Given the description of an element on the screen output the (x, y) to click on. 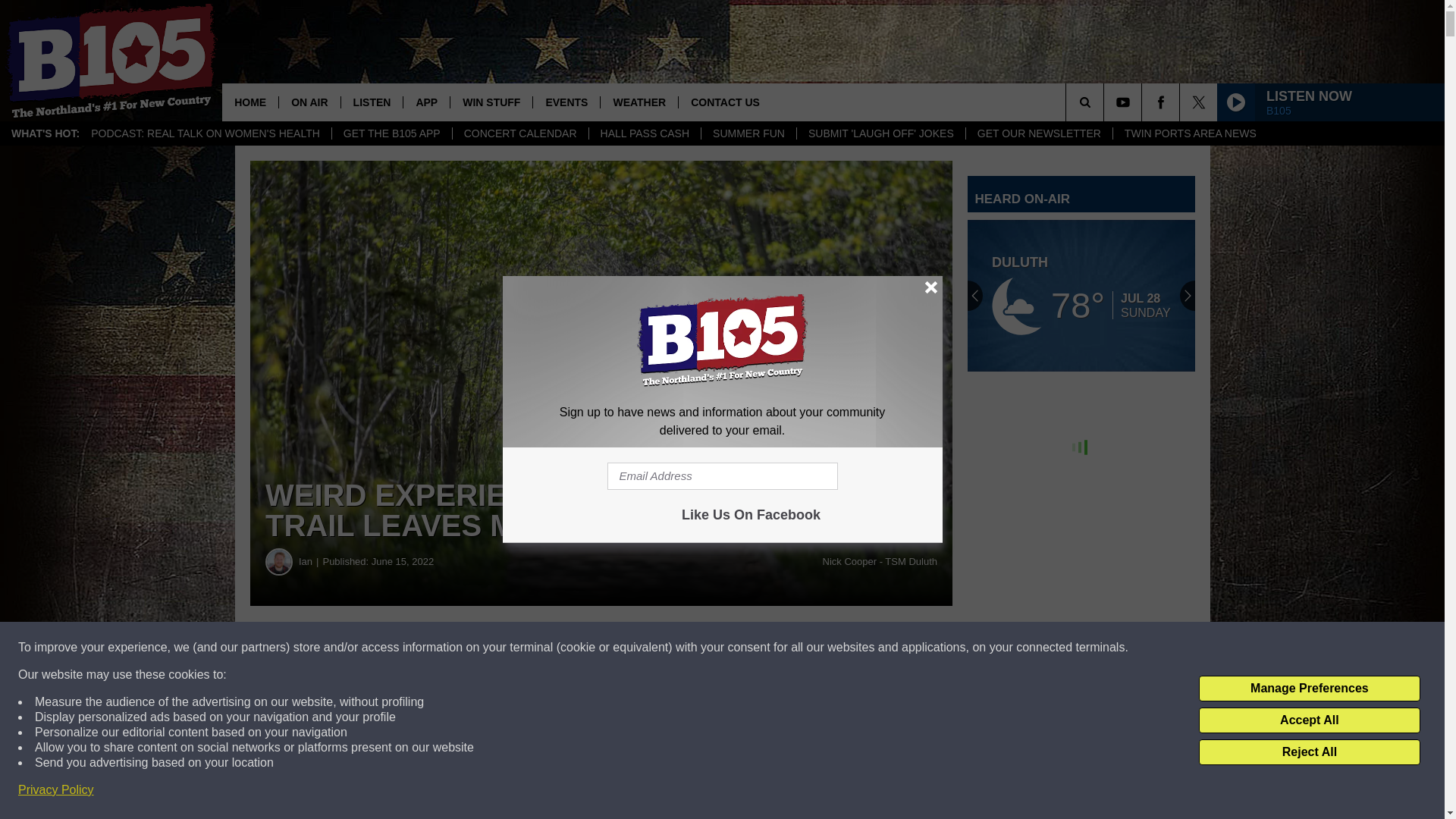
Email Address (722, 475)
Share on Facebook (460, 647)
PODCAST: REAL TALK ON WOMEN'S HEALTH (205, 133)
CONCERT CALENDAR (519, 133)
GET THE B105 APP (391, 133)
APP (426, 102)
Accept All (1309, 720)
HOME (250, 102)
Privacy Policy (55, 789)
HALL PASS CASH (644, 133)
GET OUR NEWSLETTER (1038, 133)
LISTEN (371, 102)
ON AIR (308, 102)
Manage Preferences (1309, 688)
Share on Twitter (741, 647)
